Given the description of an element on the screen output the (x, y) to click on. 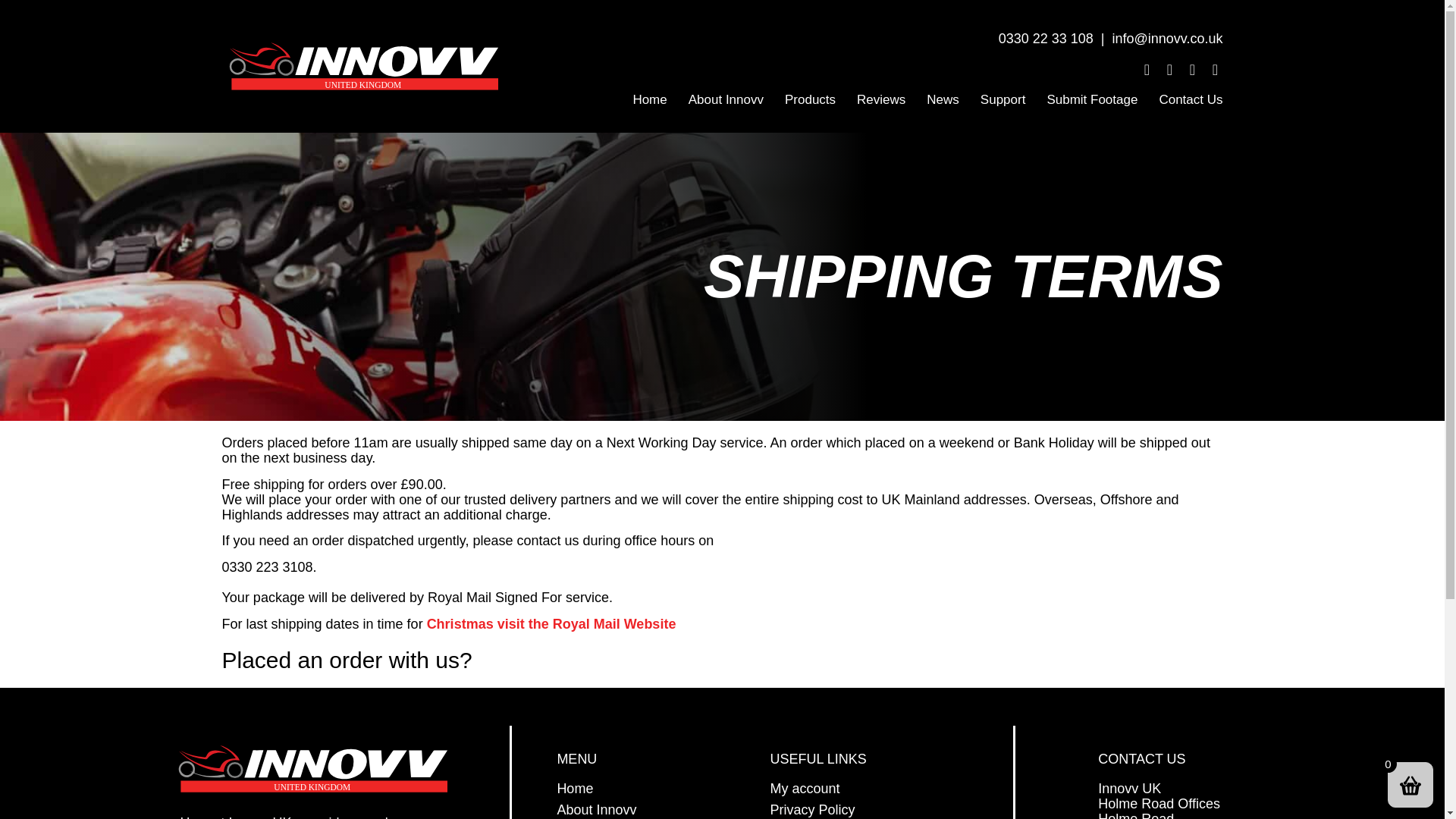
Submit Footage (1091, 99)
Products (810, 99)
Reviews (880, 99)
Support (1002, 99)
News (942, 99)
Innovv UK Logo White on Black (315, 769)
0330 22 33 108 (1045, 38)
About Innovv (726, 99)
Innovv UK Logo White on Black (365, 66)
Home (649, 99)
Contact Us (1190, 99)
